Given the description of an element on the screen output the (x, y) to click on. 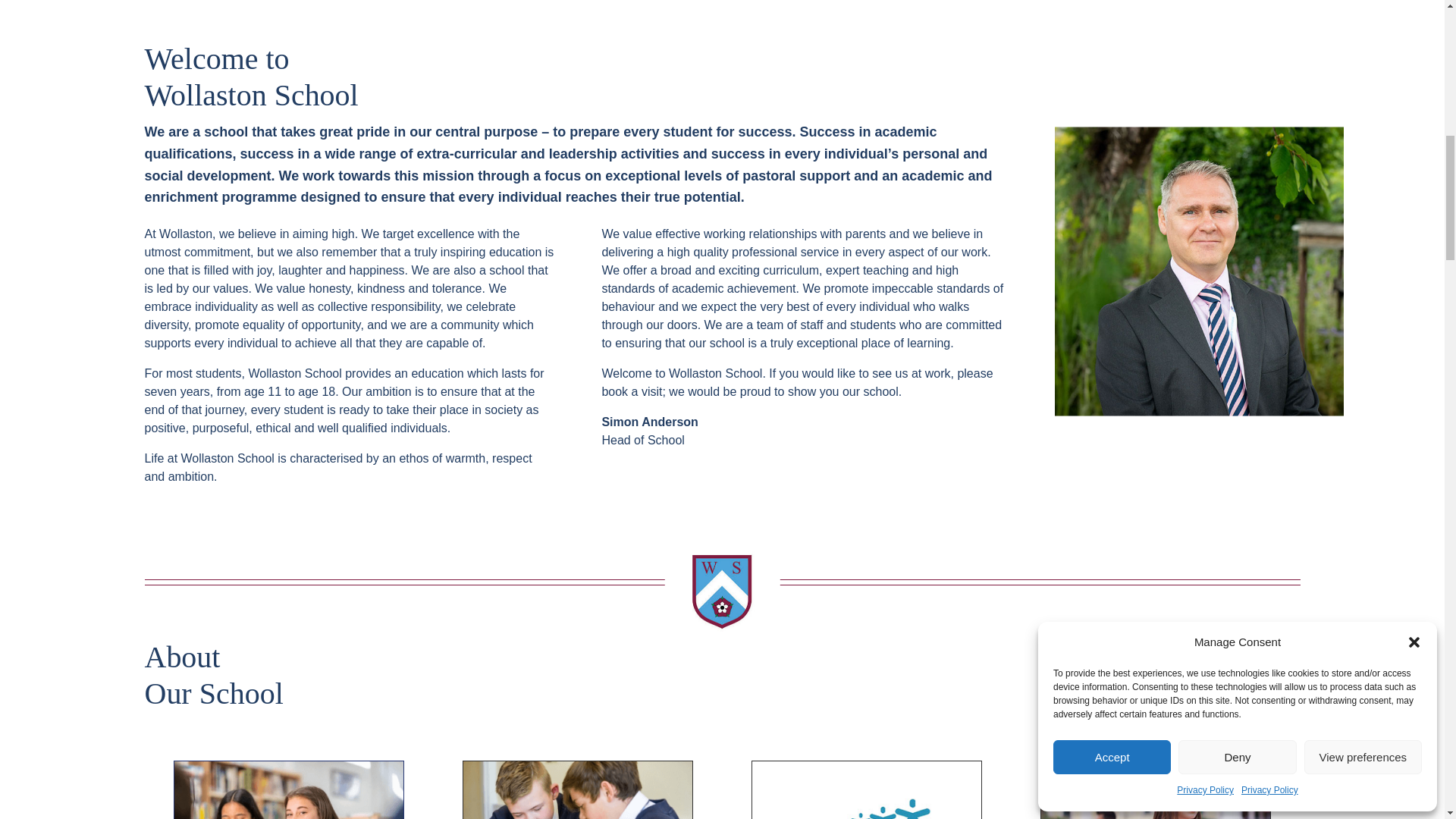
Ofsted-30 (866, 790)
